Given the description of an element on the screen output the (x, y) to click on. 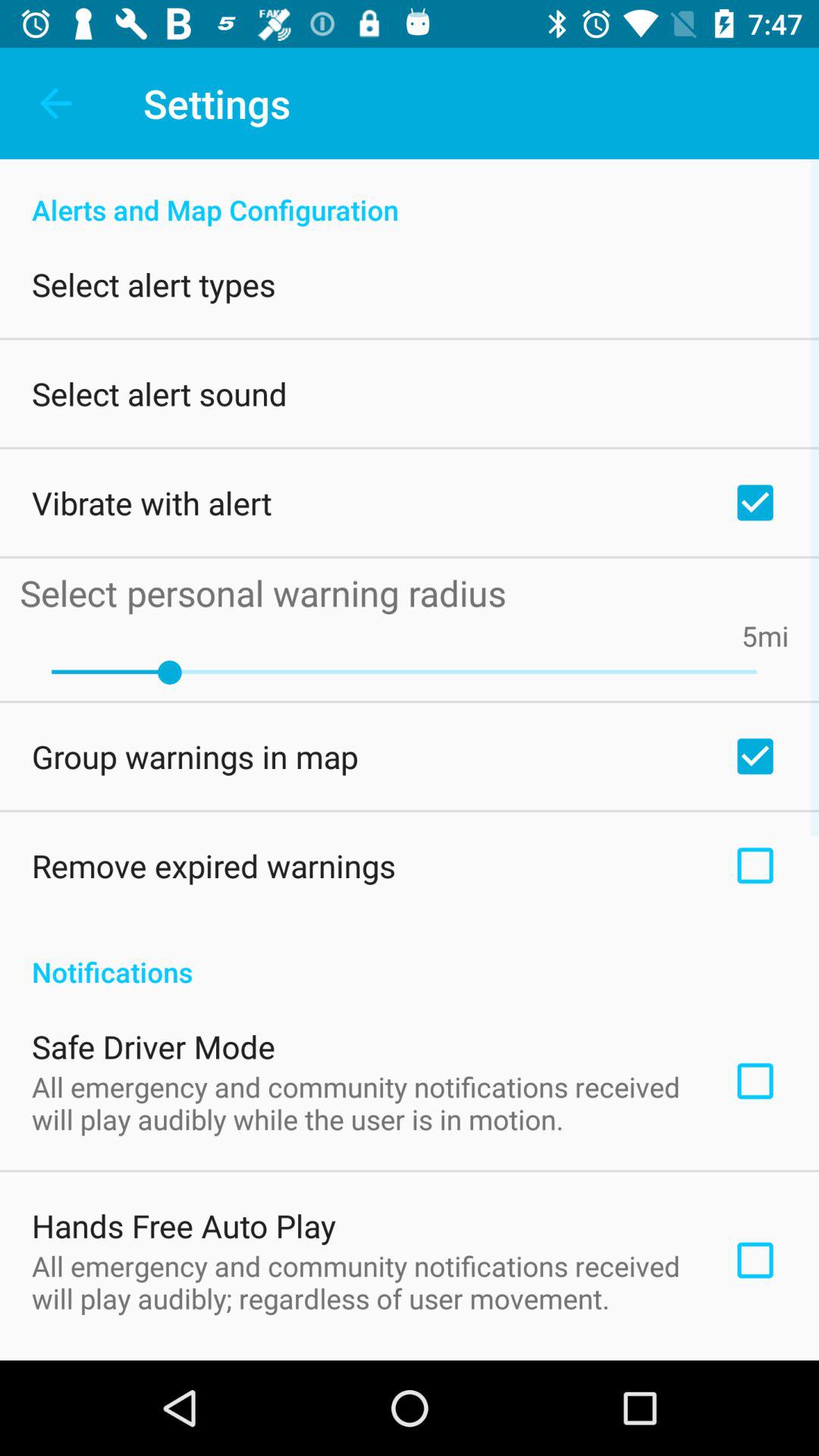
launch icon below the mi item (403, 672)
